Given the description of an element on the screen output the (x, y) to click on. 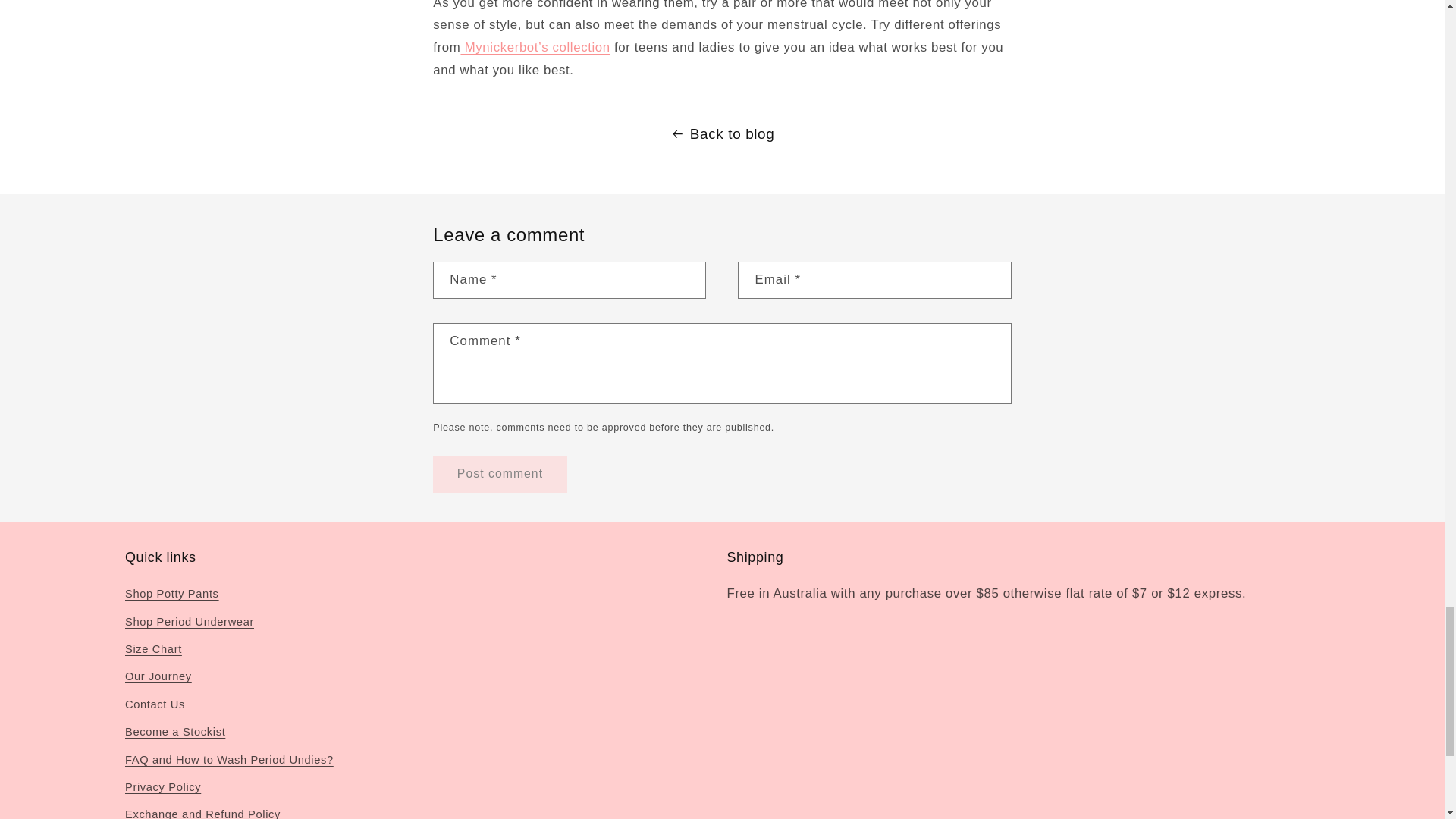
Post comment (499, 474)
Post comment (499, 474)
Shop Potty Pants (172, 596)
